Given the description of an element on the screen output the (x, y) to click on. 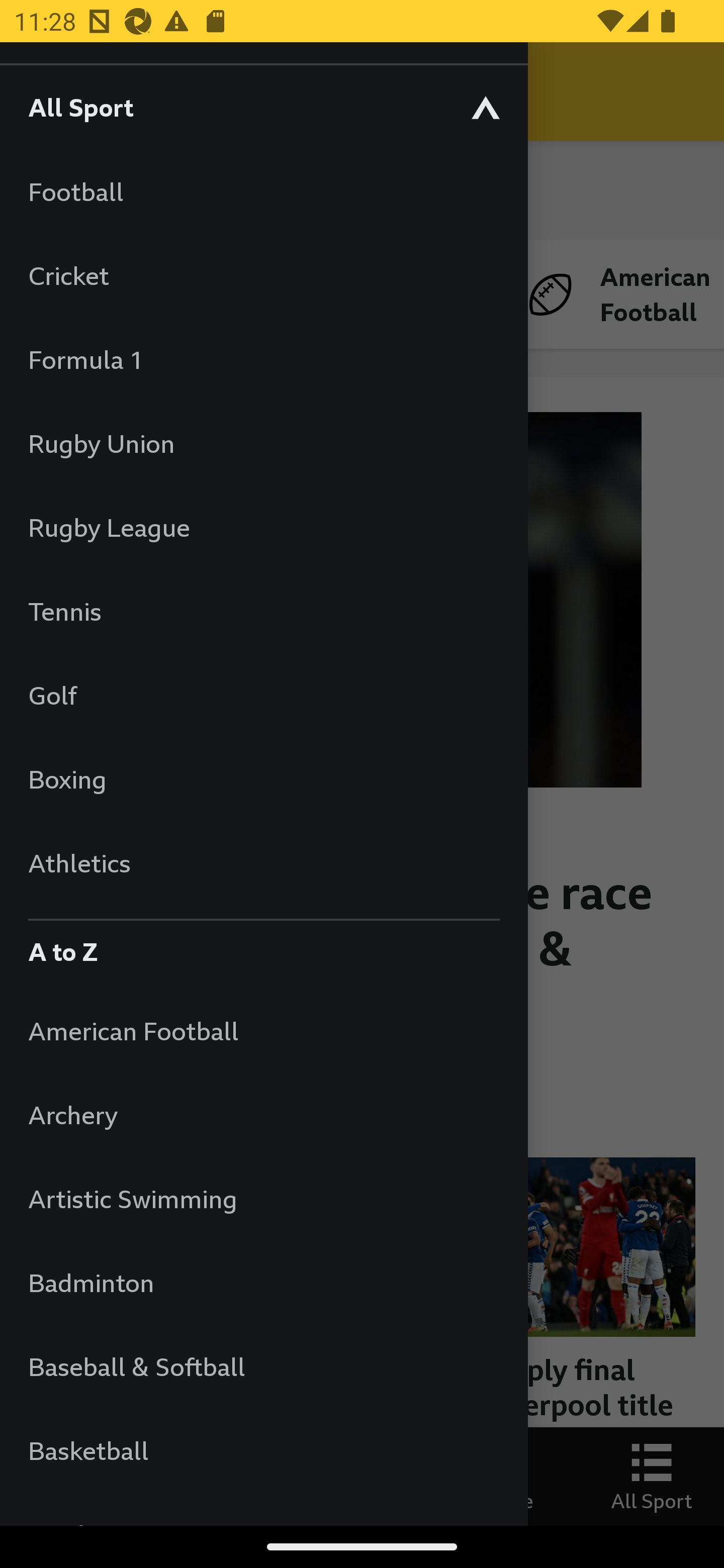
All Sport (263, 106)
Football (263, 190)
Cricket (263, 275)
Formula 1 (263, 358)
Rugby Union (263, 443)
Rugby League (263, 526)
Tennis (263, 611)
Golf (263, 694)
Boxing (263, 778)
Athletics (263, 862)
A to Z (263, 946)
American Football (263, 1029)
Archery (263, 1114)
Artistic Swimming (263, 1198)
Badminton (263, 1282)
Baseball & Softball (263, 1366)
Basketball (263, 1450)
